Given the description of an element on the screen output the (x, y) to click on. 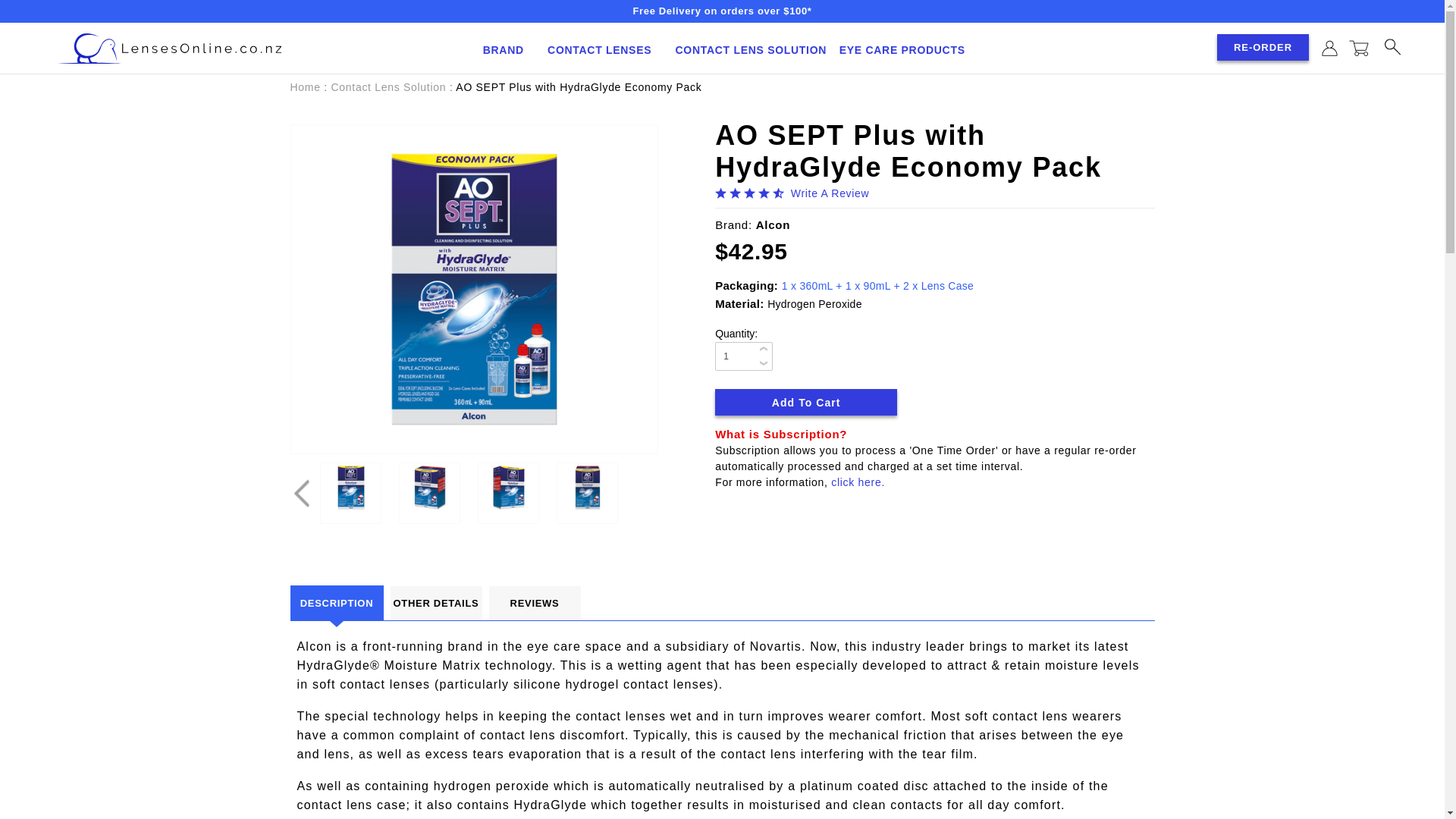
BRAND (509, 47)
AO Sept Economy Pack Left (508, 487)
EYE CARE PRODUCTS (907, 47)
CONTACT LENSES (604, 47)
Add to Cart (805, 401)
AO Sept Economy Pack Right (429, 487)
CONTACT LENS SOLUTION (750, 47)
AO Sept Economy Pack Front (474, 289)
AO Sept Economy Pack Front (351, 487)
AO Sept Economy Pack Top (587, 487)
